Given the description of an element on the screen output the (x, y) to click on. 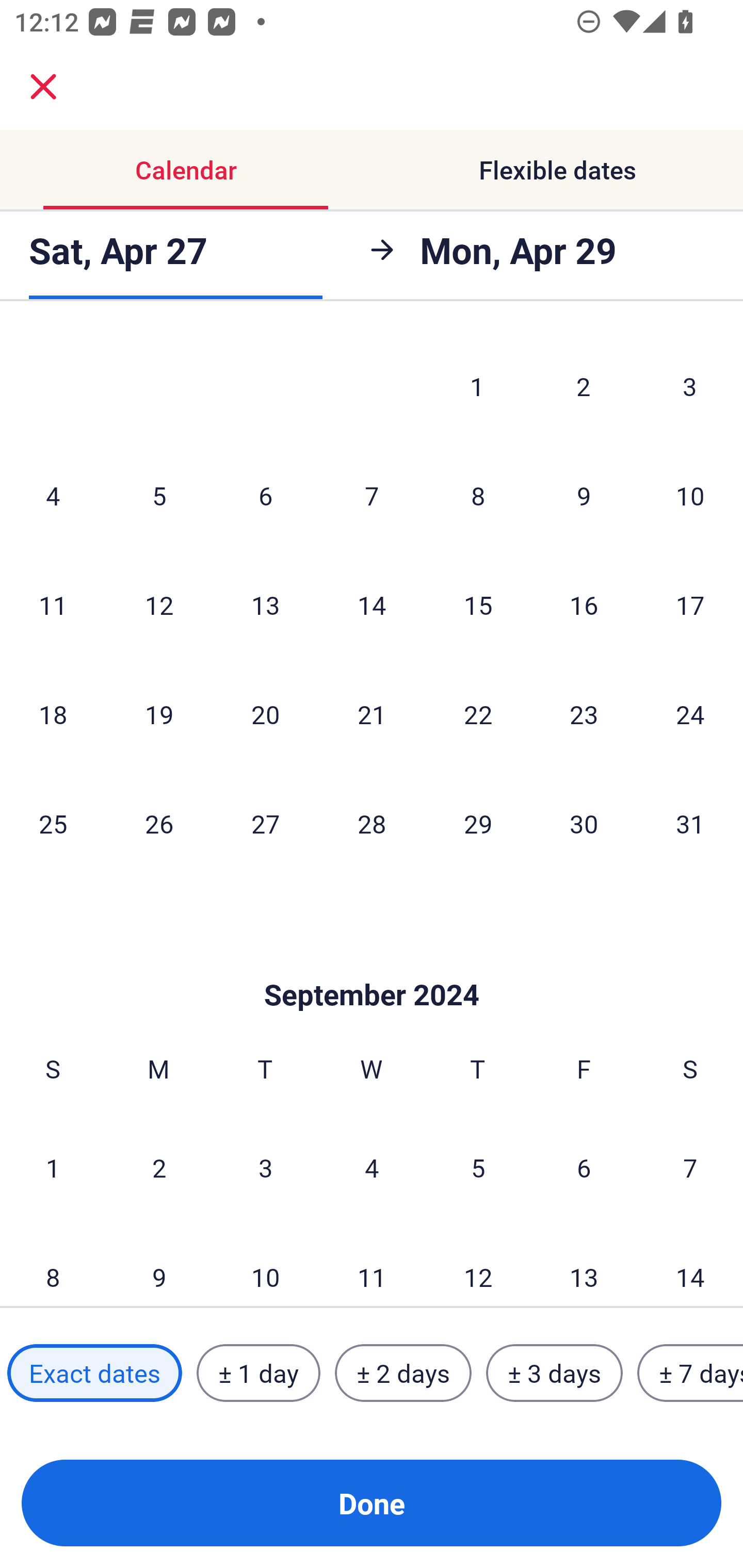
close. (43, 86)
Flexible dates (557, 170)
1 Thursday, August 1, 2024 (477, 385)
2 Friday, August 2, 2024 (583, 385)
3 Saturday, August 3, 2024 (689, 385)
4 Sunday, August 4, 2024 (53, 495)
5 Monday, August 5, 2024 (159, 495)
6 Tuesday, August 6, 2024 (265, 495)
7 Wednesday, August 7, 2024 (371, 495)
8 Thursday, August 8, 2024 (477, 495)
9 Friday, August 9, 2024 (584, 495)
10 Saturday, August 10, 2024 (690, 495)
11 Sunday, August 11, 2024 (53, 603)
12 Monday, August 12, 2024 (159, 603)
13 Tuesday, August 13, 2024 (265, 603)
14 Wednesday, August 14, 2024 (371, 603)
15 Thursday, August 15, 2024 (477, 603)
16 Friday, August 16, 2024 (584, 603)
17 Saturday, August 17, 2024 (690, 603)
18 Sunday, August 18, 2024 (53, 713)
19 Monday, August 19, 2024 (159, 713)
20 Tuesday, August 20, 2024 (265, 713)
21 Wednesday, August 21, 2024 (371, 713)
22 Thursday, August 22, 2024 (477, 713)
23 Friday, August 23, 2024 (584, 713)
24 Saturday, August 24, 2024 (690, 713)
25 Sunday, August 25, 2024 (53, 822)
26 Monday, August 26, 2024 (159, 822)
27 Tuesday, August 27, 2024 (265, 822)
28 Wednesday, August 28, 2024 (371, 822)
29 Thursday, August 29, 2024 (477, 822)
30 Friday, August 30, 2024 (584, 822)
31 Saturday, August 31, 2024 (690, 822)
Skip to Done (371, 963)
1 Sunday, September 1, 2024 (53, 1166)
2 Monday, September 2, 2024 (159, 1166)
3 Tuesday, September 3, 2024 (265, 1166)
4 Wednesday, September 4, 2024 (371, 1166)
5 Thursday, September 5, 2024 (477, 1166)
6 Friday, September 6, 2024 (584, 1166)
7 Saturday, September 7, 2024 (690, 1166)
8 Sunday, September 8, 2024 (53, 1265)
9 Monday, September 9, 2024 (159, 1265)
10 Tuesday, September 10, 2024 (265, 1265)
11 Wednesday, September 11, 2024 (371, 1265)
12 Thursday, September 12, 2024 (477, 1265)
13 Friday, September 13, 2024 (584, 1265)
14 Saturday, September 14, 2024 (690, 1265)
Exact dates (94, 1372)
± 1 day (258, 1372)
